Given the description of an element on the screen output the (x, y) to click on. 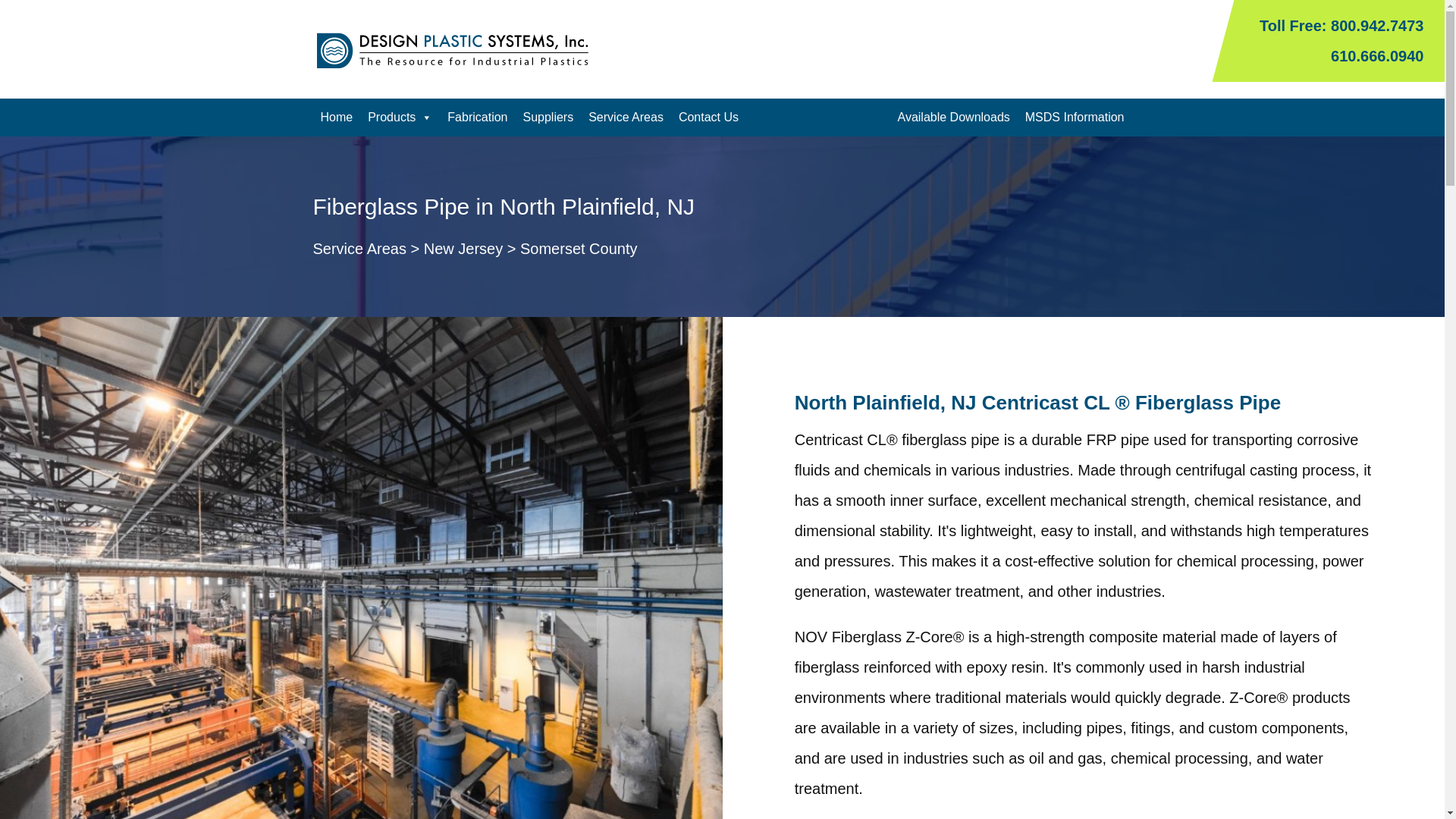
Home (336, 117)
Service Areas (625, 117)
Somerset County (578, 248)
New Jersey (462, 248)
Service Areas (359, 248)
MSDS Information (1074, 117)
Contact Us (708, 117)
Suppliers (547, 117)
Products (399, 117)
Fabrication (477, 117)
Available Downloads (953, 117)
